Given the description of an element on the screen output the (x, y) to click on. 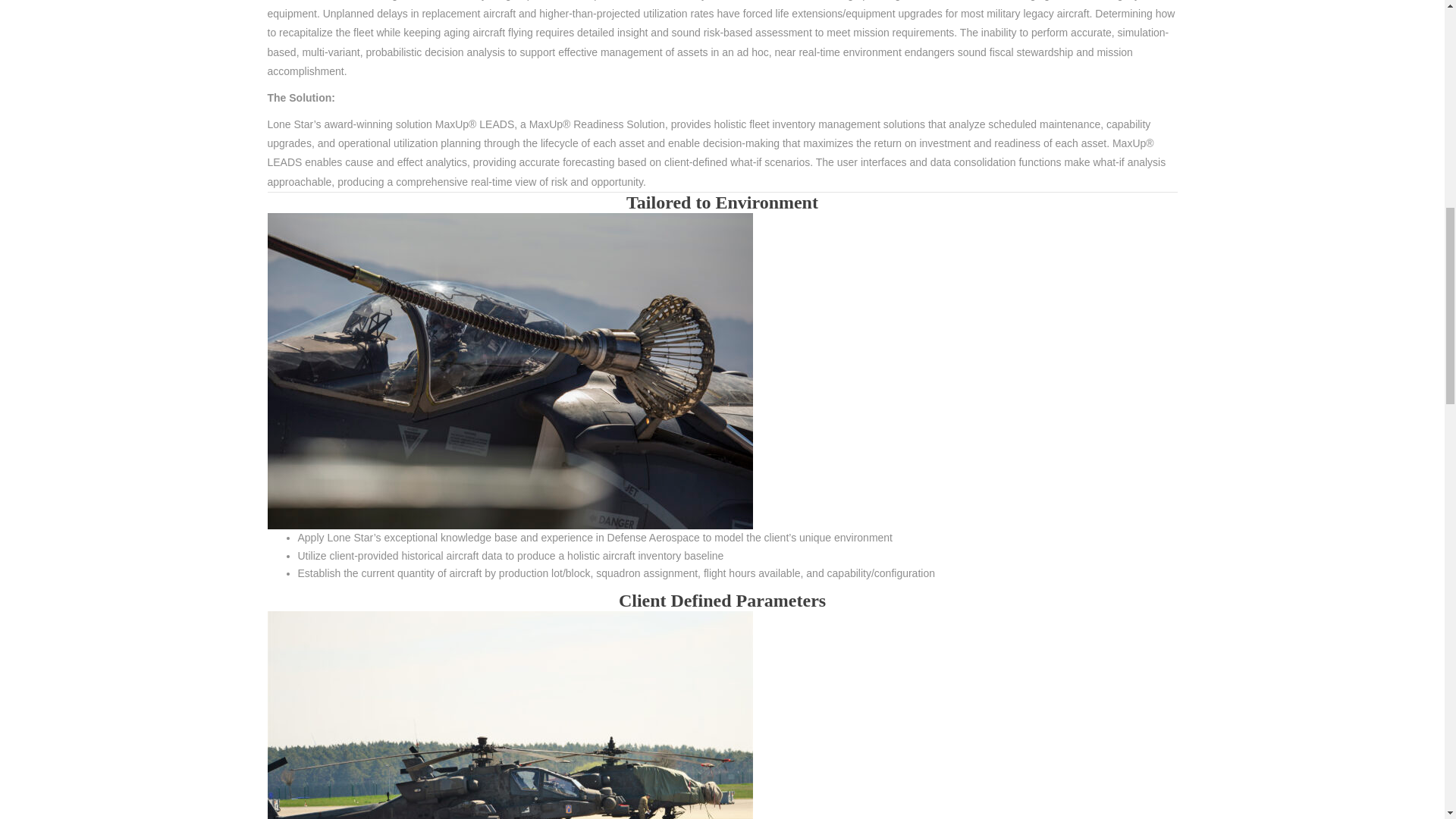
AH-64 Apache Helicopter (509, 714)
